Given the description of an element on the screen output the (x, y) to click on. 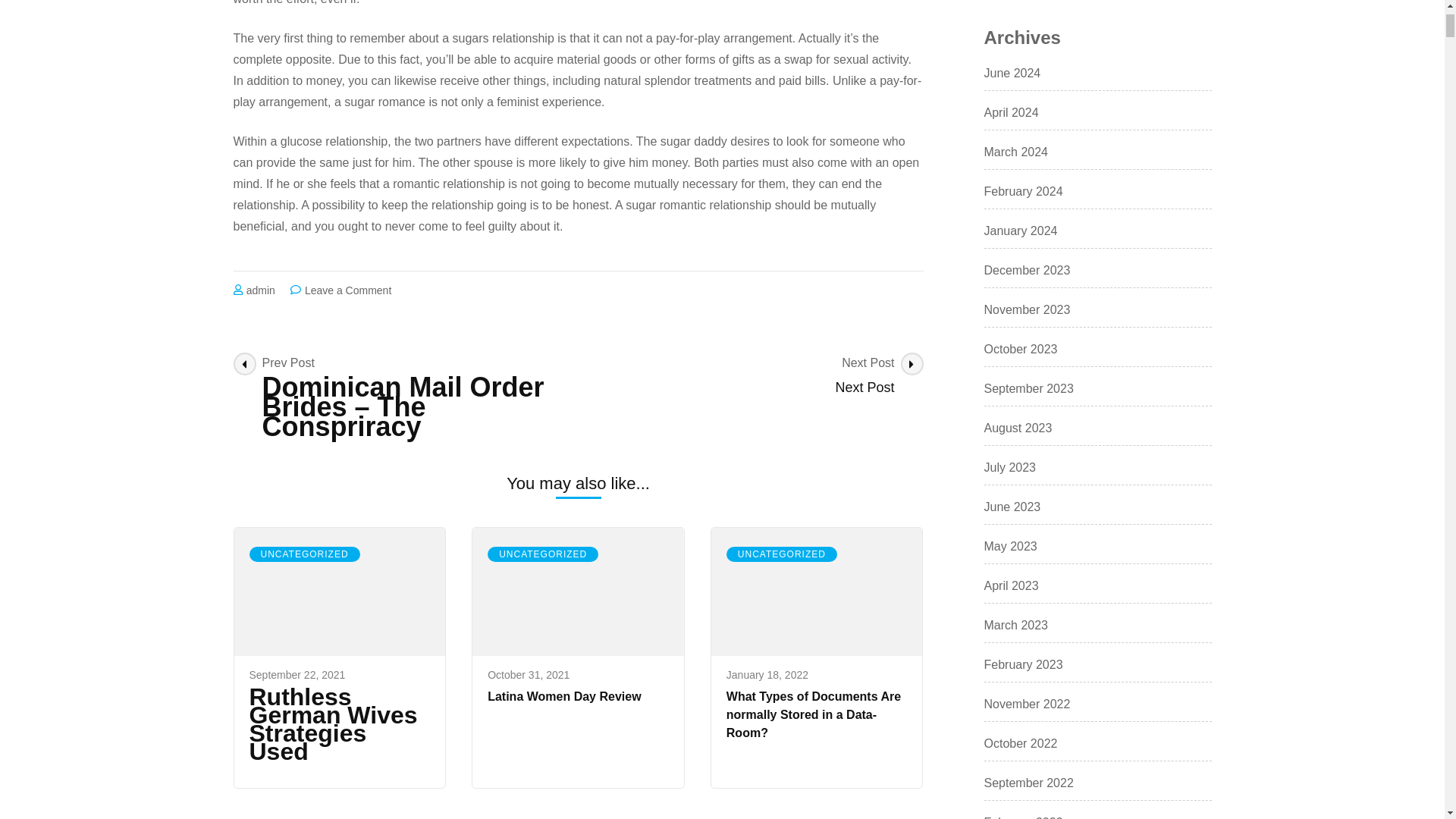
October 31, 2021 (528, 674)
September 22, 2021 (347, 290)
Ruthless German Wives Strategies Used (296, 674)
UNCATEGORIZED (750, 375)
January 18, 2022 (338, 723)
UNCATEGORIZED (781, 554)
What Types of Documents Are normally Stored in a Data-Room? (767, 674)
UNCATEGORIZED (303, 554)
admin (813, 714)
Latina Women Day Review (542, 554)
